Given the description of an element on the screen output the (x, y) to click on. 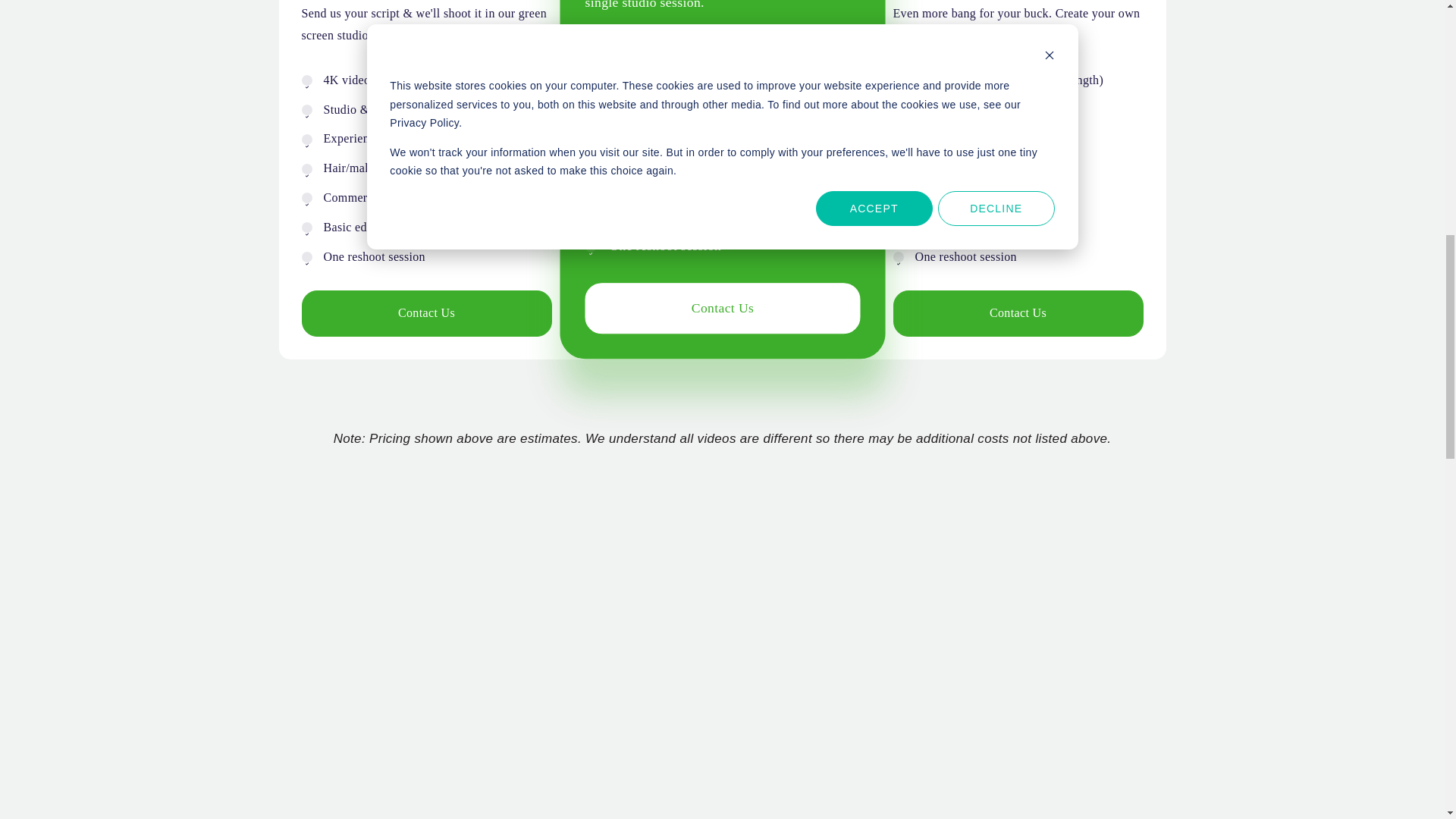
Contact Us (1017, 313)
Contact Us (426, 313)
Contact Us (709, 306)
